Given the description of an element on the screen output the (x, y) to click on. 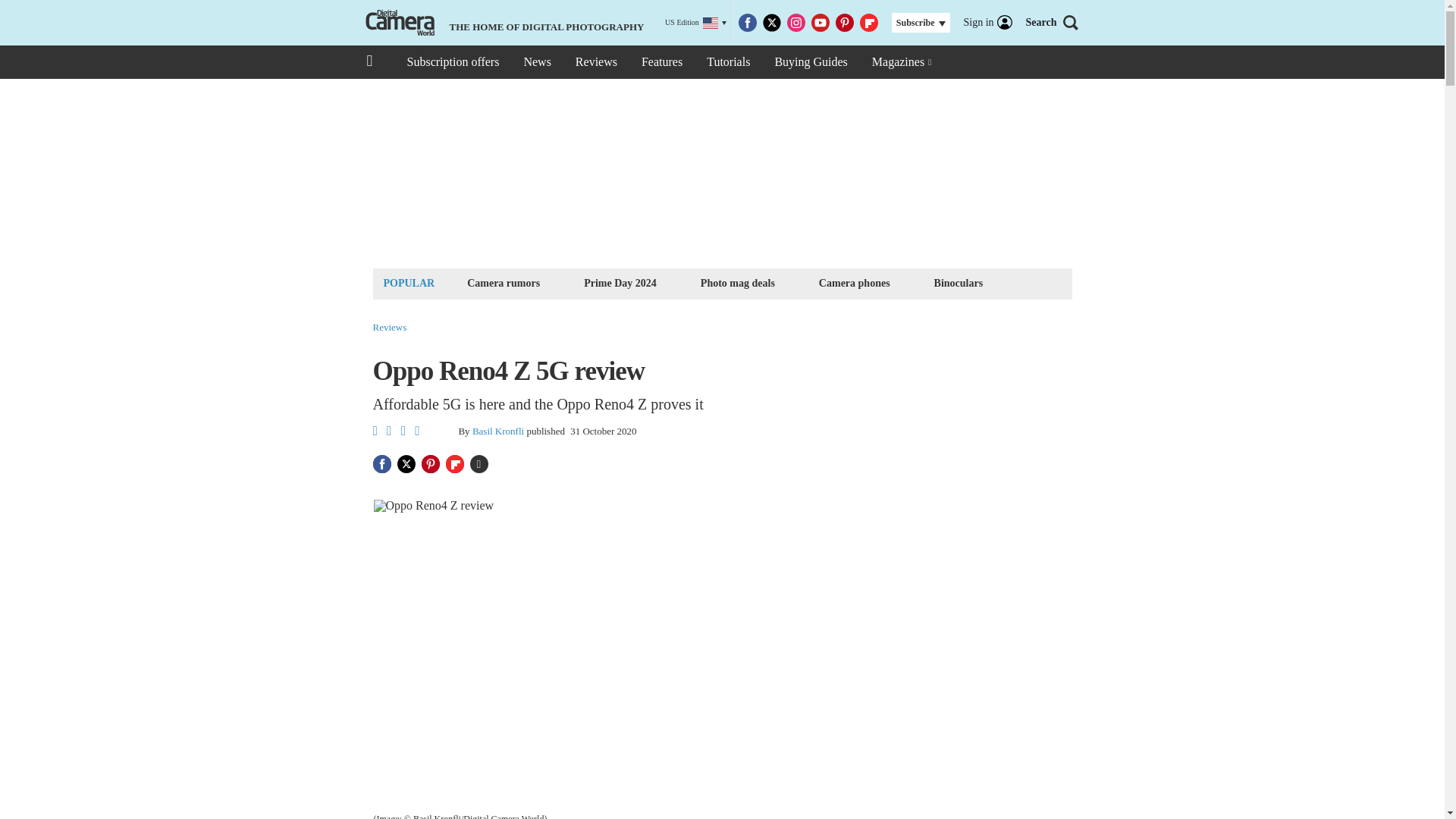
Binoculars (958, 282)
Subscription offers (452, 61)
News (536, 61)
Reviews (389, 327)
Buying Guides (810, 61)
Features (661, 61)
US Edition (695, 22)
Photo mag deals (737, 282)
THE HOME OF DIGITAL PHOTOGRAPHY (503, 22)
Tutorials (727, 61)
Camera phones (854, 282)
Reviews (595, 61)
Camera rumors (502, 282)
Prime Day 2024 (620, 282)
